Given the description of an element on the screen output the (x, y) to click on. 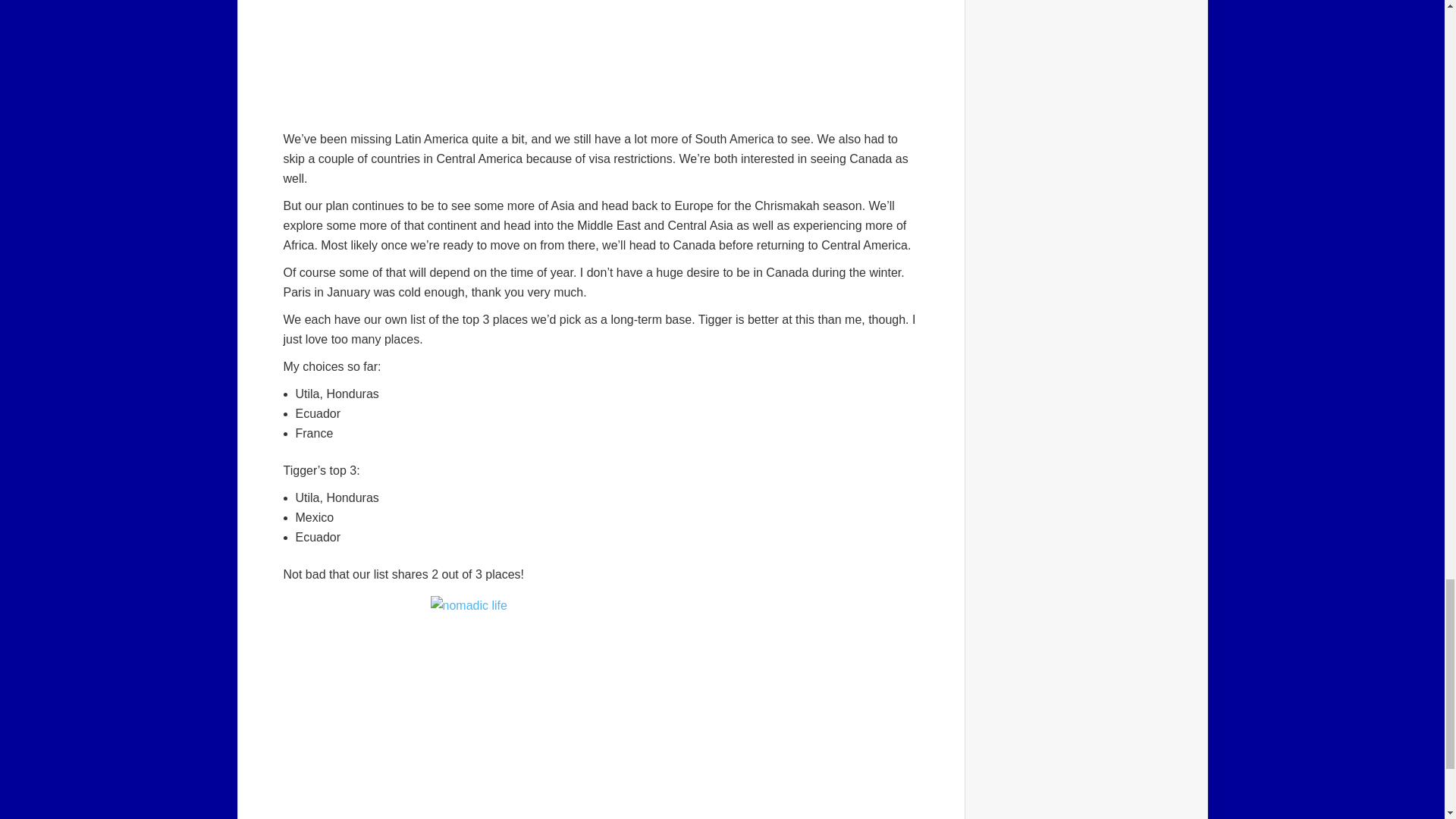
Tigger's 1st wreck dive, Mexico (600, 707)
Granada, Spain (601, 58)
